Given the description of an element on the screen output the (x, y) to click on. 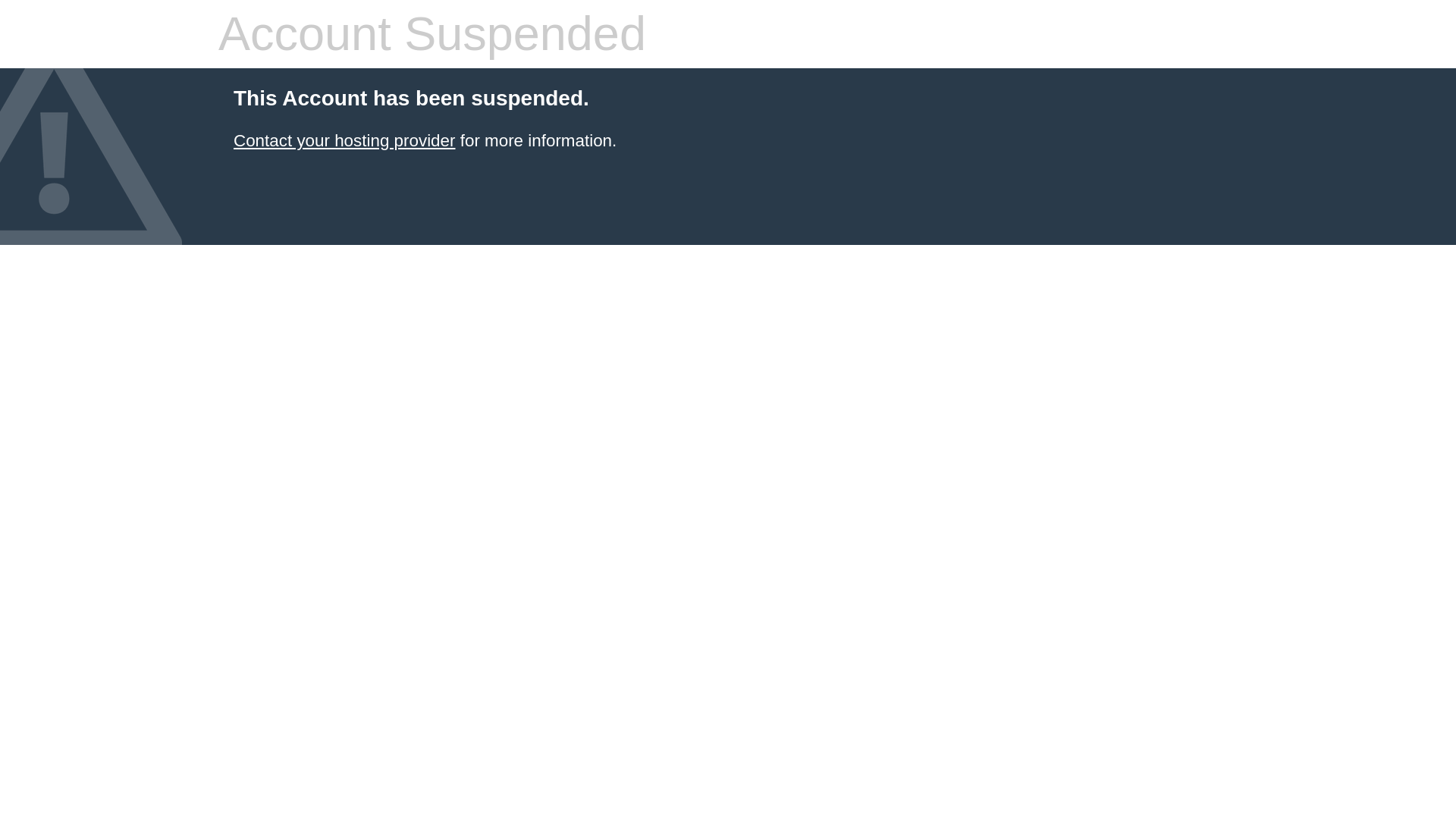
Contact your hosting provider (343, 140)
